Given the description of an element on the screen output the (x, y) to click on. 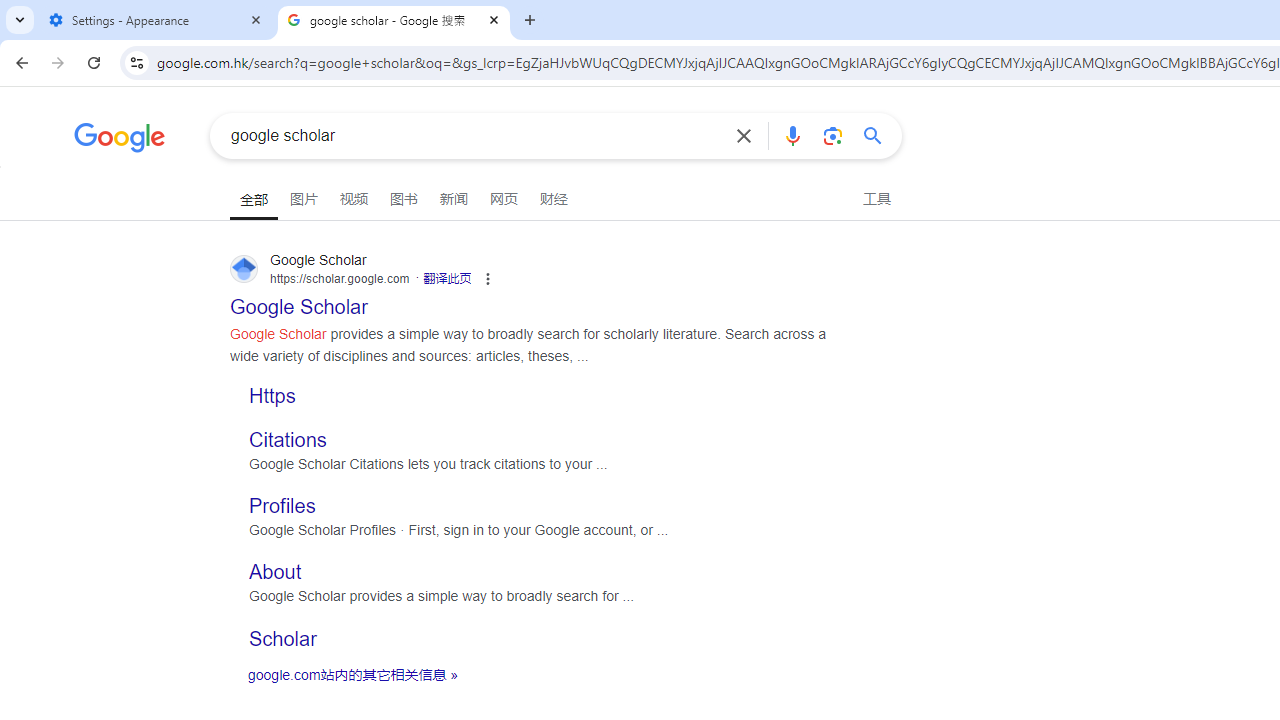
Scholar (283, 638)
Https (272, 394)
